Given the description of an element on the screen output the (x, y) to click on. 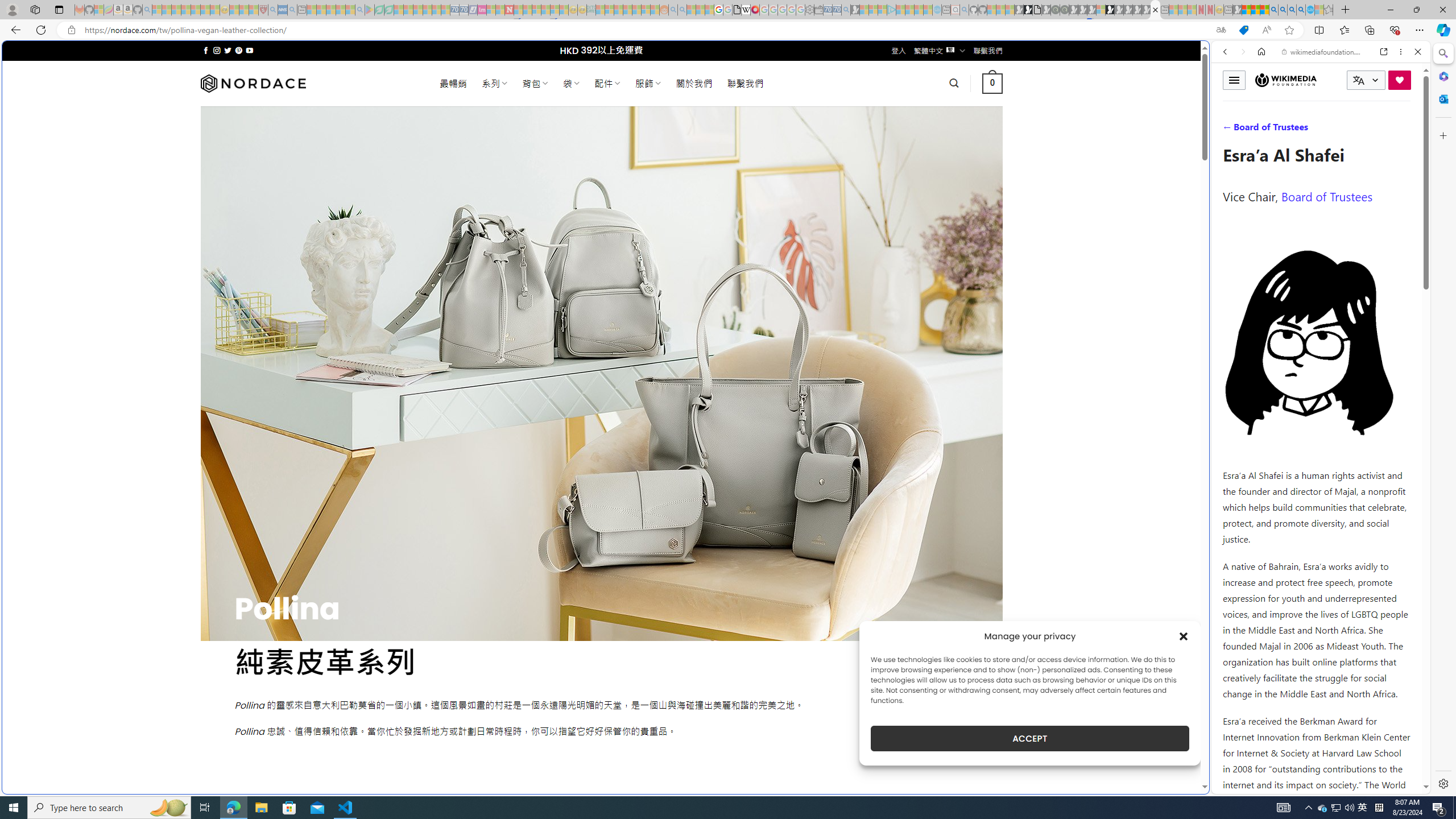
Follow on Instagram (216, 50)
NCL Adult Asthma Inhaler Choice Guideline - Sleeping (282, 9)
Collections (1369, 29)
New tab (727, 683)
Split screen (1318, 29)
Microsoft Start - Sleeping (919, 9)
More options (1401, 51)
